Given the description of an element on the screen output the (x, y) to click on. 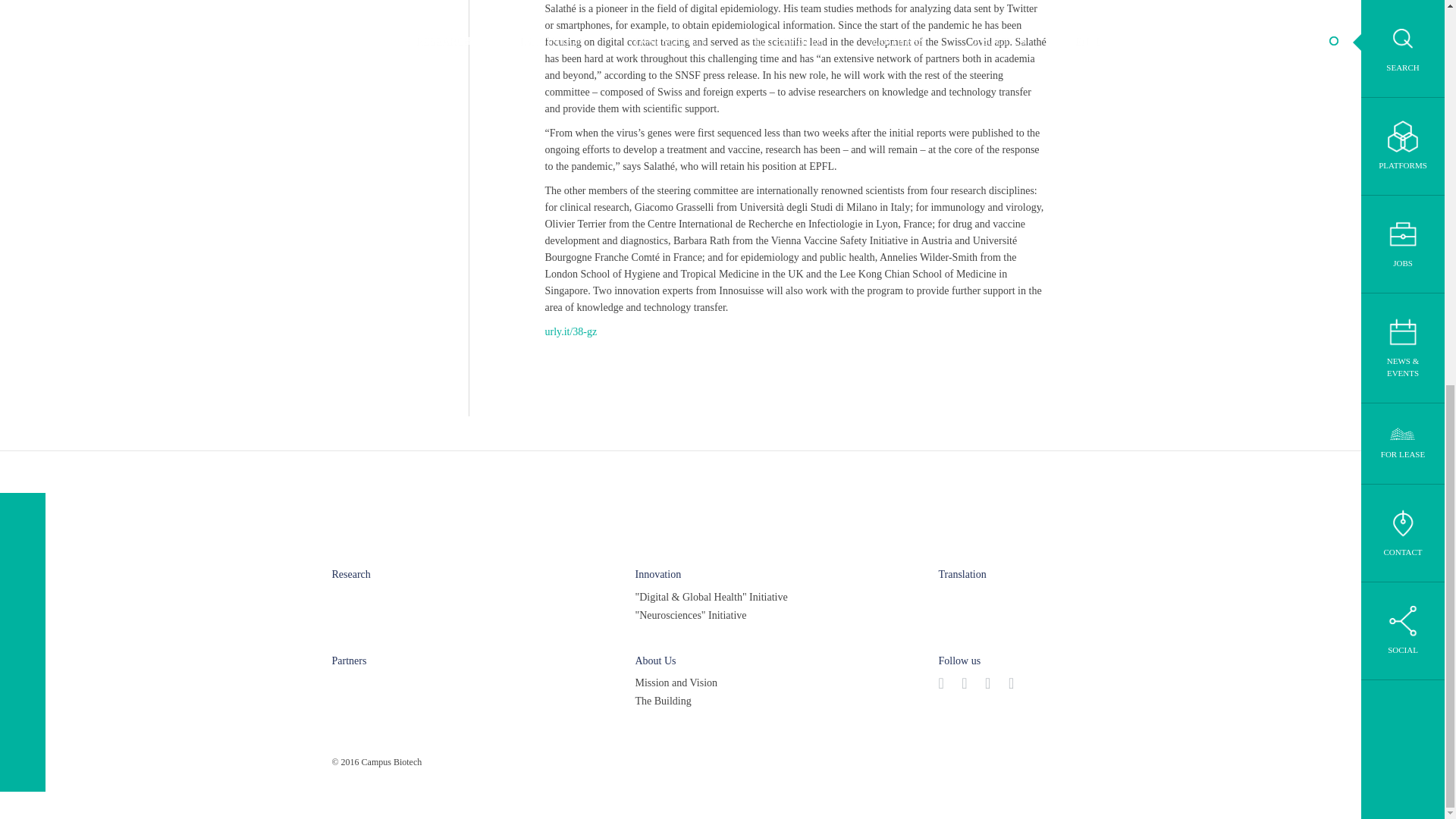
Innovation (657, 573)
Translation (961, 573)
Partners (348, 660)
"Neurosciences" Initiative (689, 615)
Mission and Vision (675, 683)
The Building (662, 701)
About Us (654, 660)
Research (351, 573)
